Given the description of an element on the screen output the (x, y) to click on. 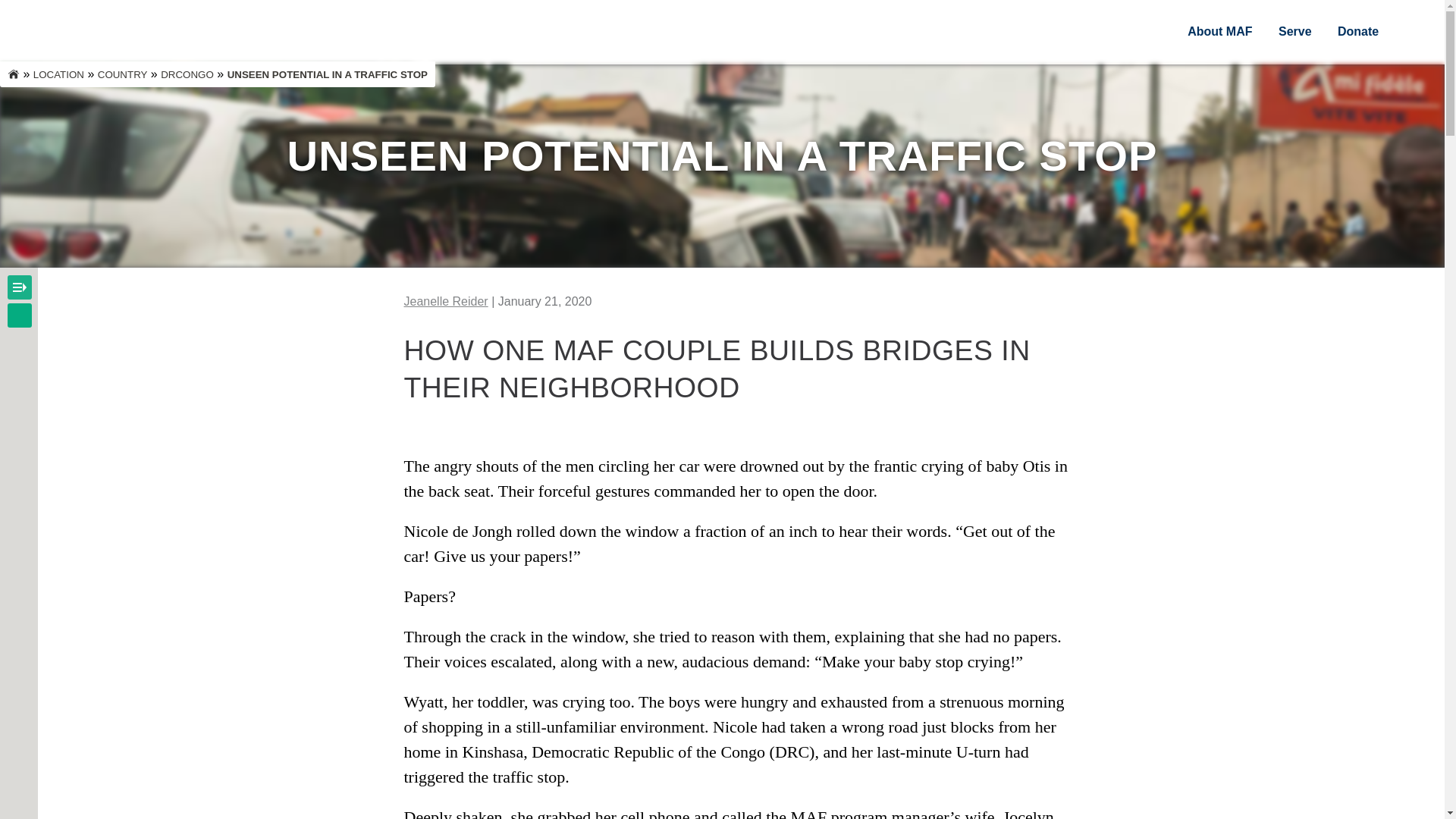
Donate (1358, 31)
DRCONGO (187, 74)
About MAF (1219, 31)
COUNTRY (122, 74)
Serve (1294, 31)
Jeanelle Reider (445, 300)
Posts by Jeanelle Reider (445, 300)
UNSEEN POTENTIAL IN A TRAFFIC STOP (721, 155)
LOCATION (58, 74)
UNSEEN POTENTIAL IN A TRAFFIC STOP (327, 74)
